Given the description of an element on the screen output the (x, y) to click on. 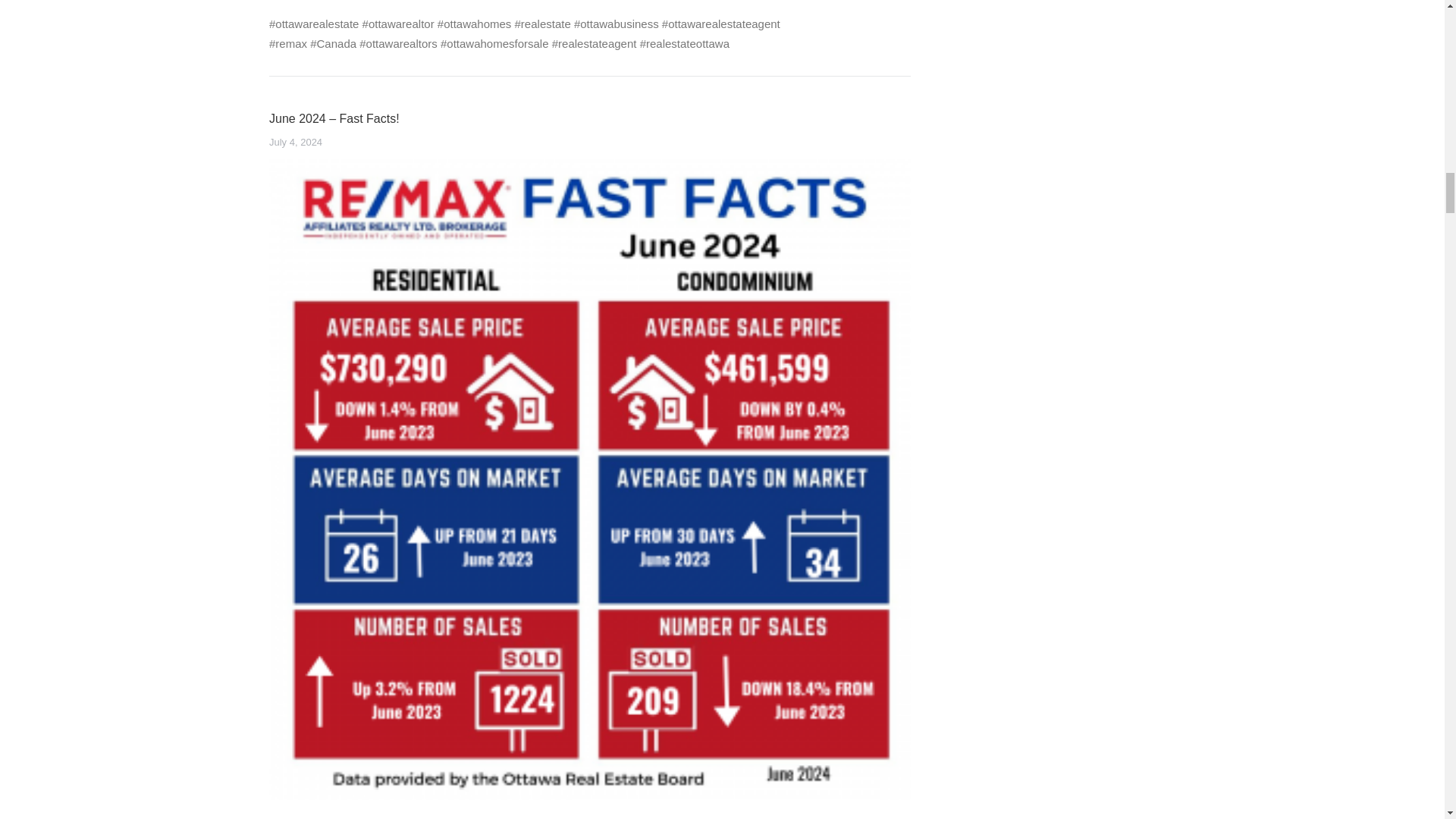
3:12 pm (295, 142)
